Given the description of an element on the screen output the (x, y) to click on. 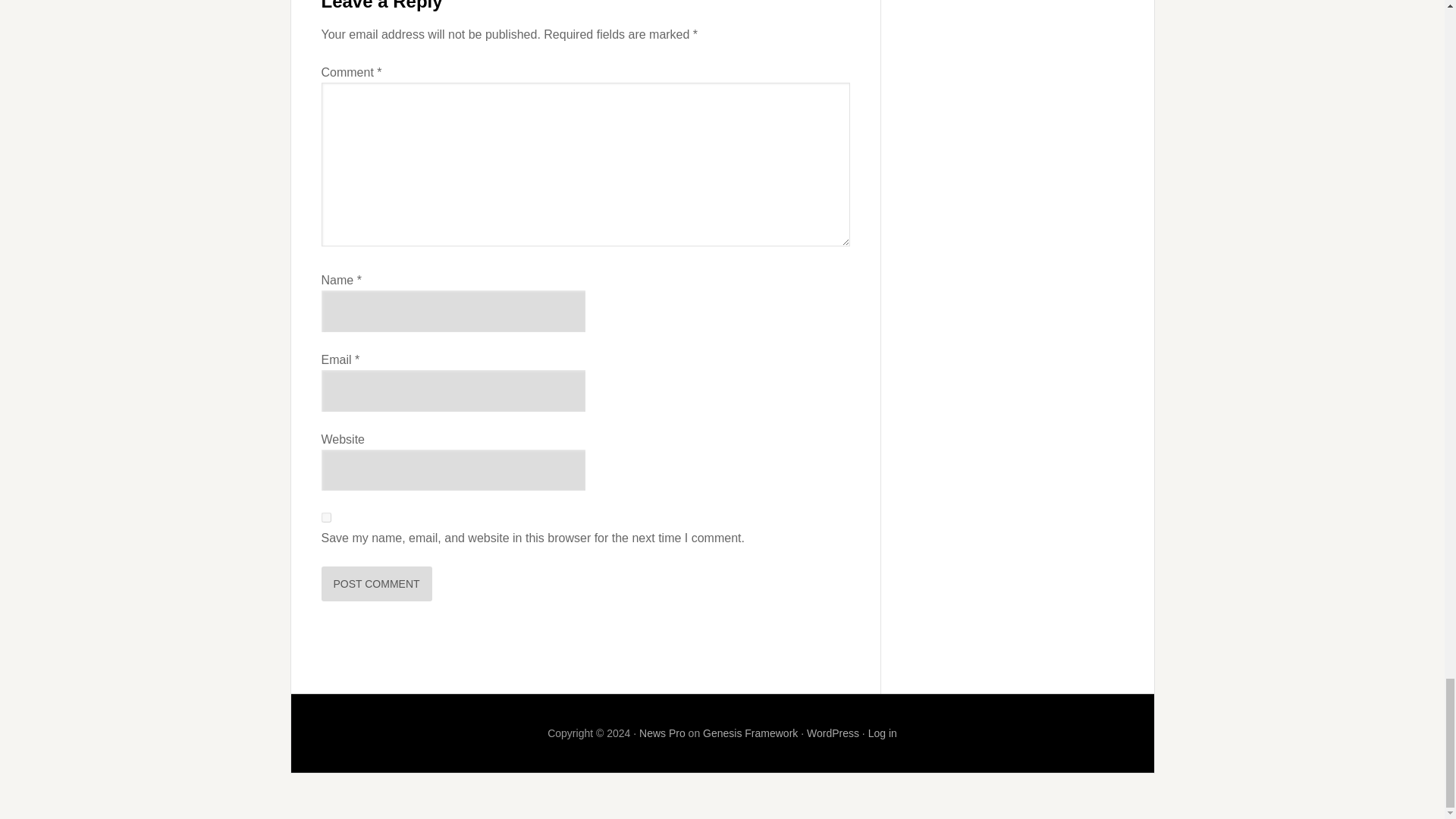
yes (326, 517)
Post Comment (376, 583)
Post Comment (376, 583)
